Given the description of an element on the screen output the (x, y) to click on. 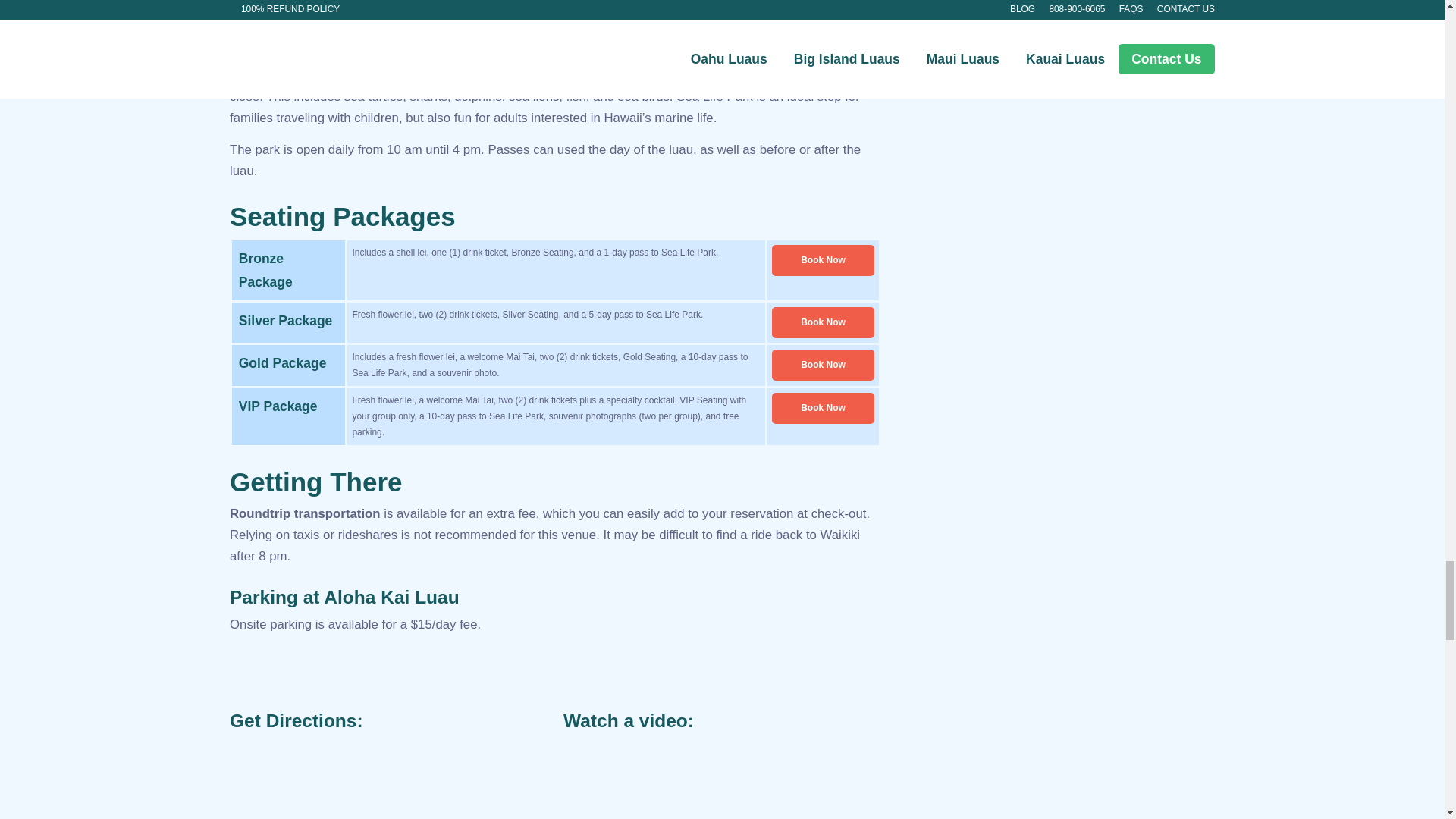
Book Now (823, 364)
Book Now (823, 408)
Book Now (823, 322)
Book Now (823, 260)
